Given the description of an element on the screen output the (x, y) to click on. 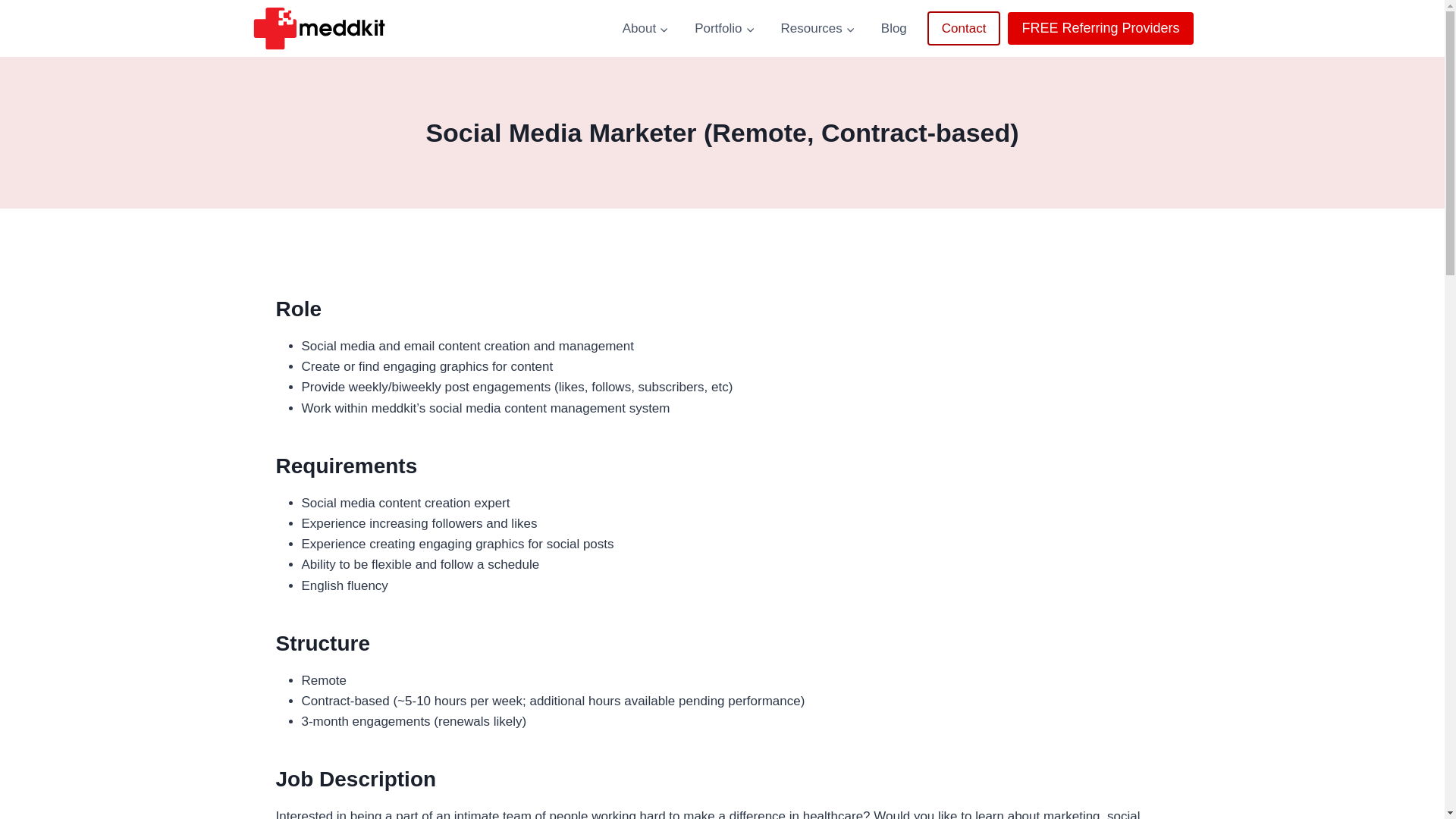
Blog (893, 28)
FREE Referring Providers (1099, 28)
Contact (964, 28)
Portfolio (724, 28)
About (645, 28)
Resources (817, 28)
